Given the description of an element on the screen output the (x, y) to click on. 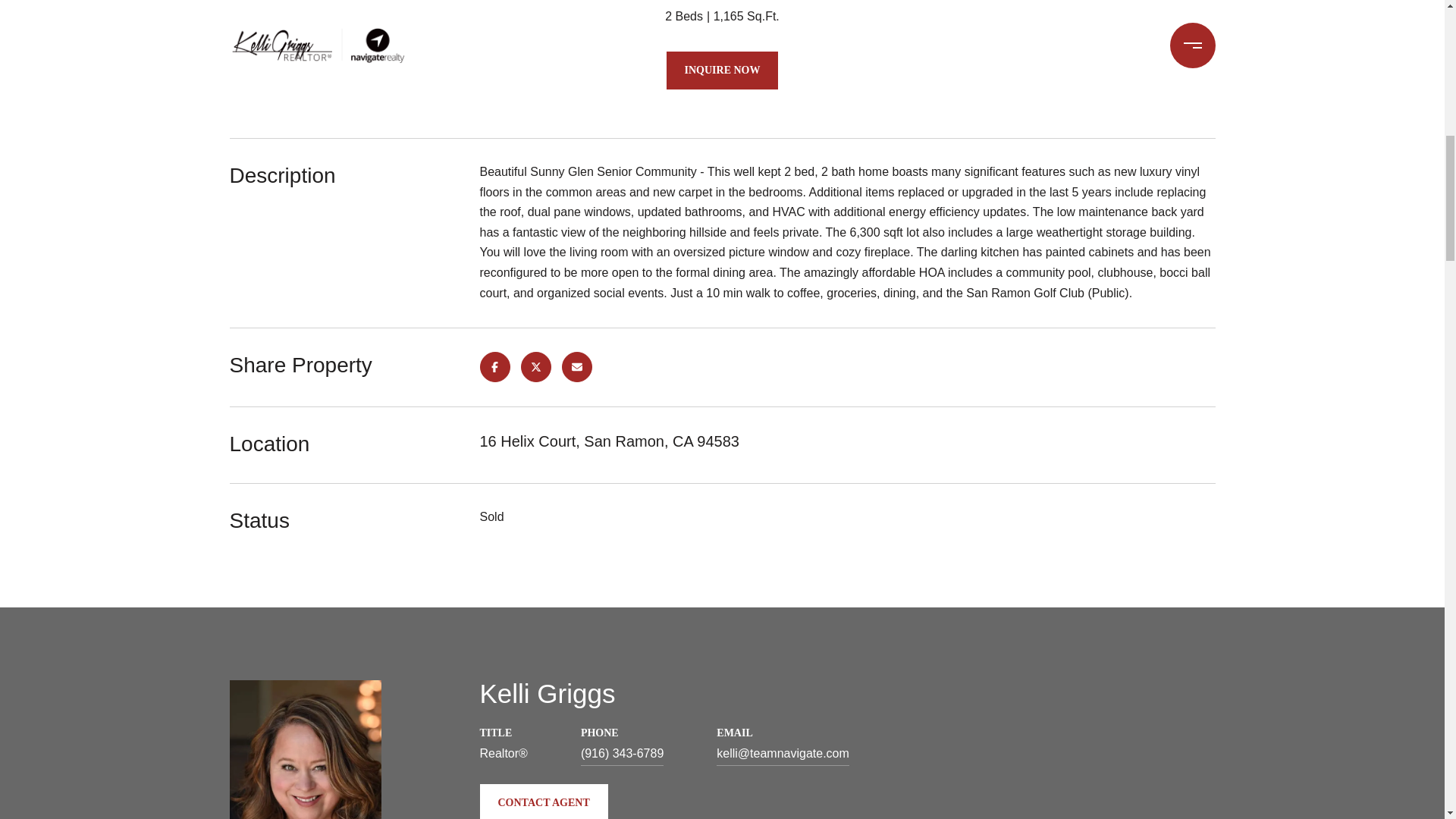
INQUIRE NOW (722, 70)
